Given the description of an element on the screen output the (x, y) to click on. 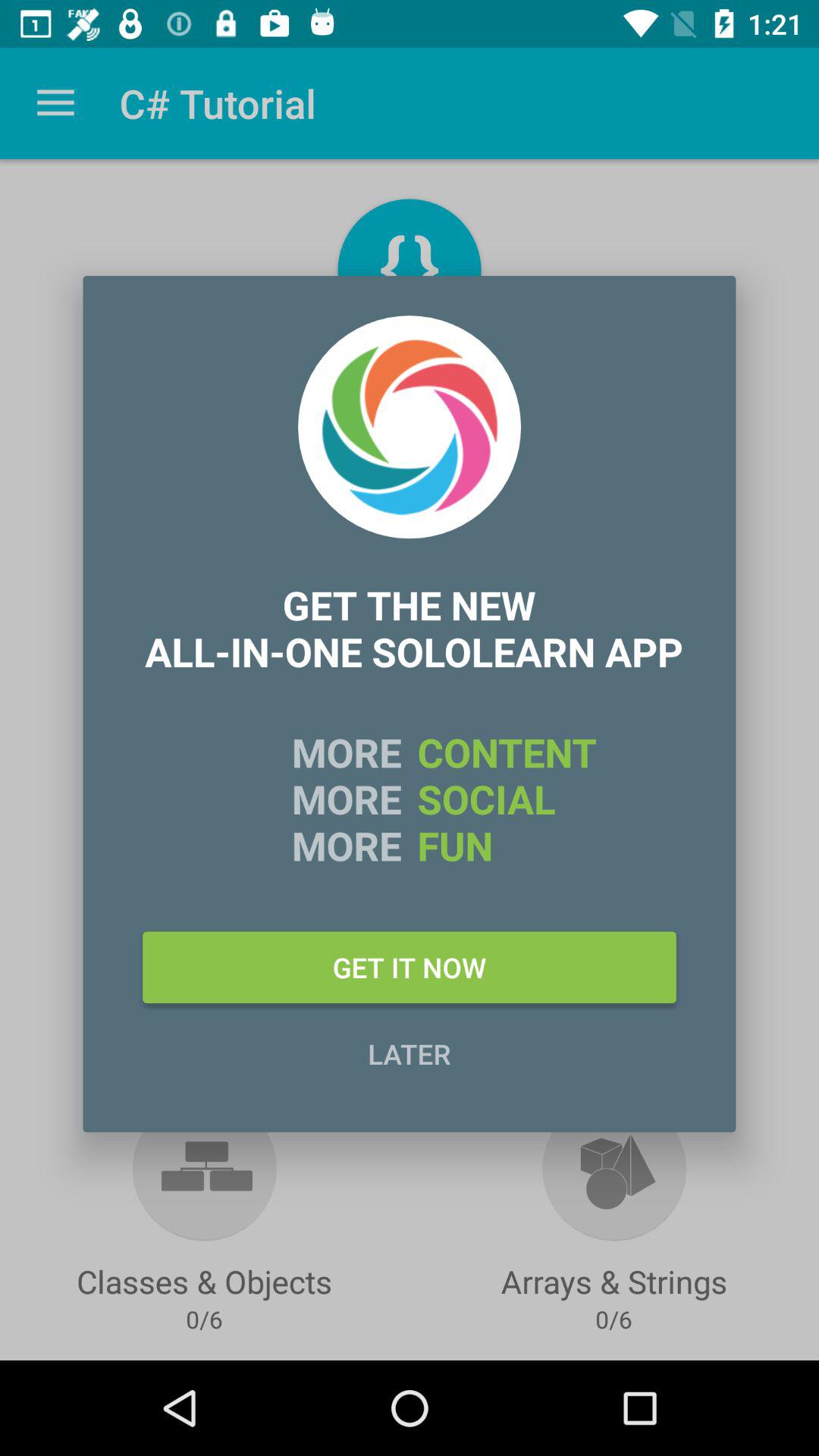
select the icon below the more
more
more (409, 967)
